Given the description of an element on the screen output the (x, y) to click on. 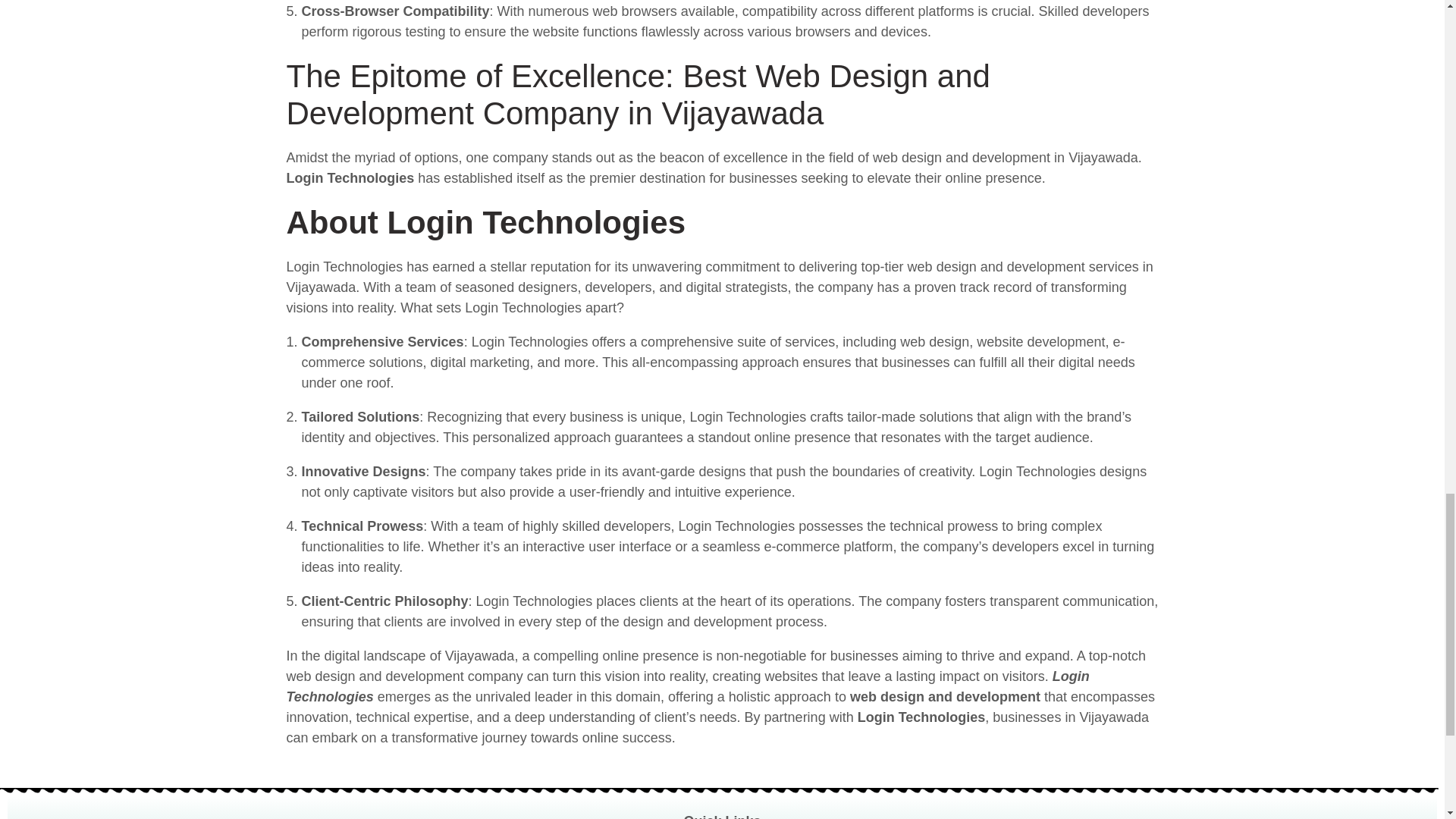
Login Technologies, Vijayawada (1225, 815)
